Given the description of an element on the screen output the (x, y) to click on. 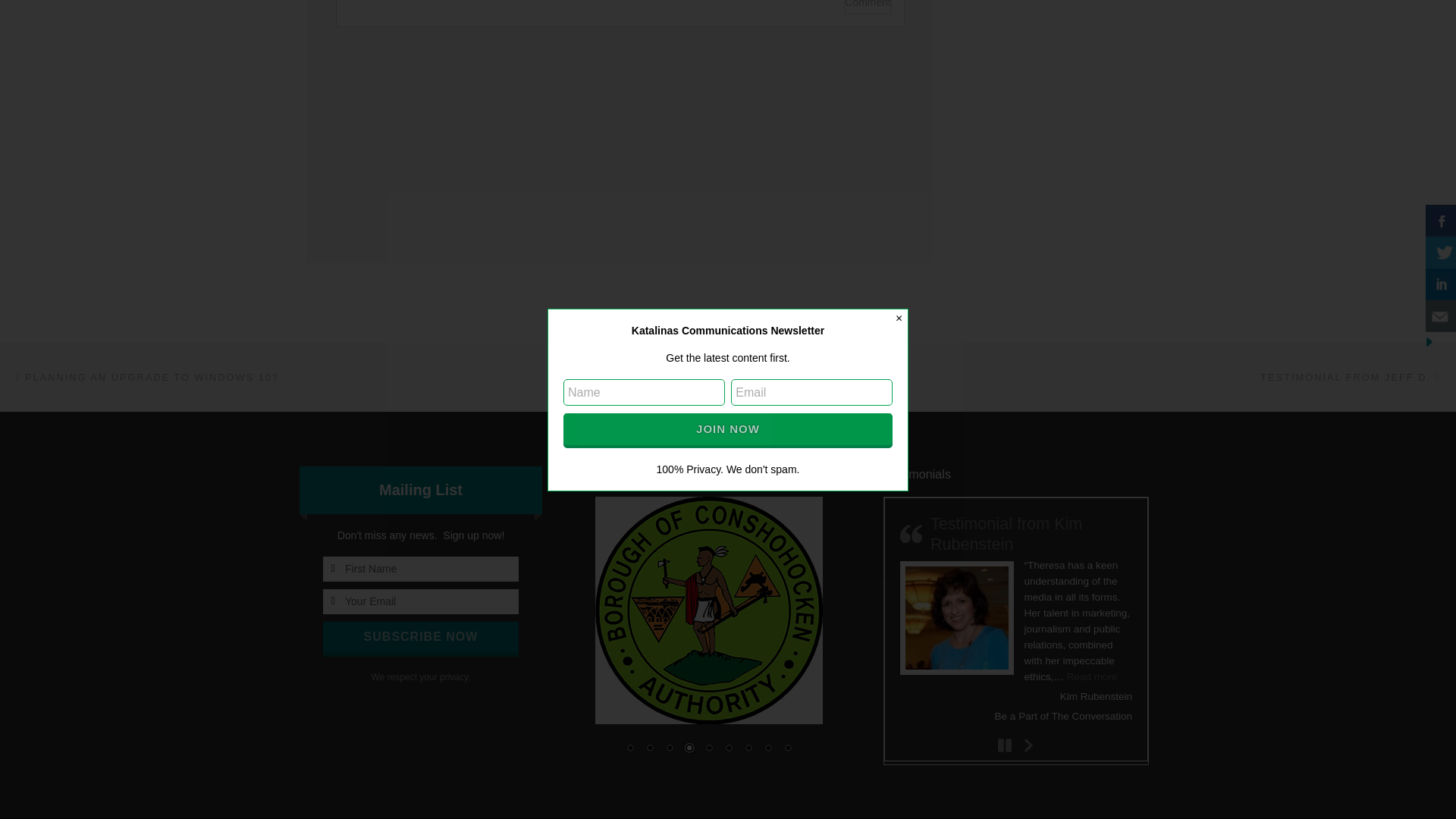
Comment Form (619, 115)
